Given the description of an element on the screen output the (x, y) to click on. 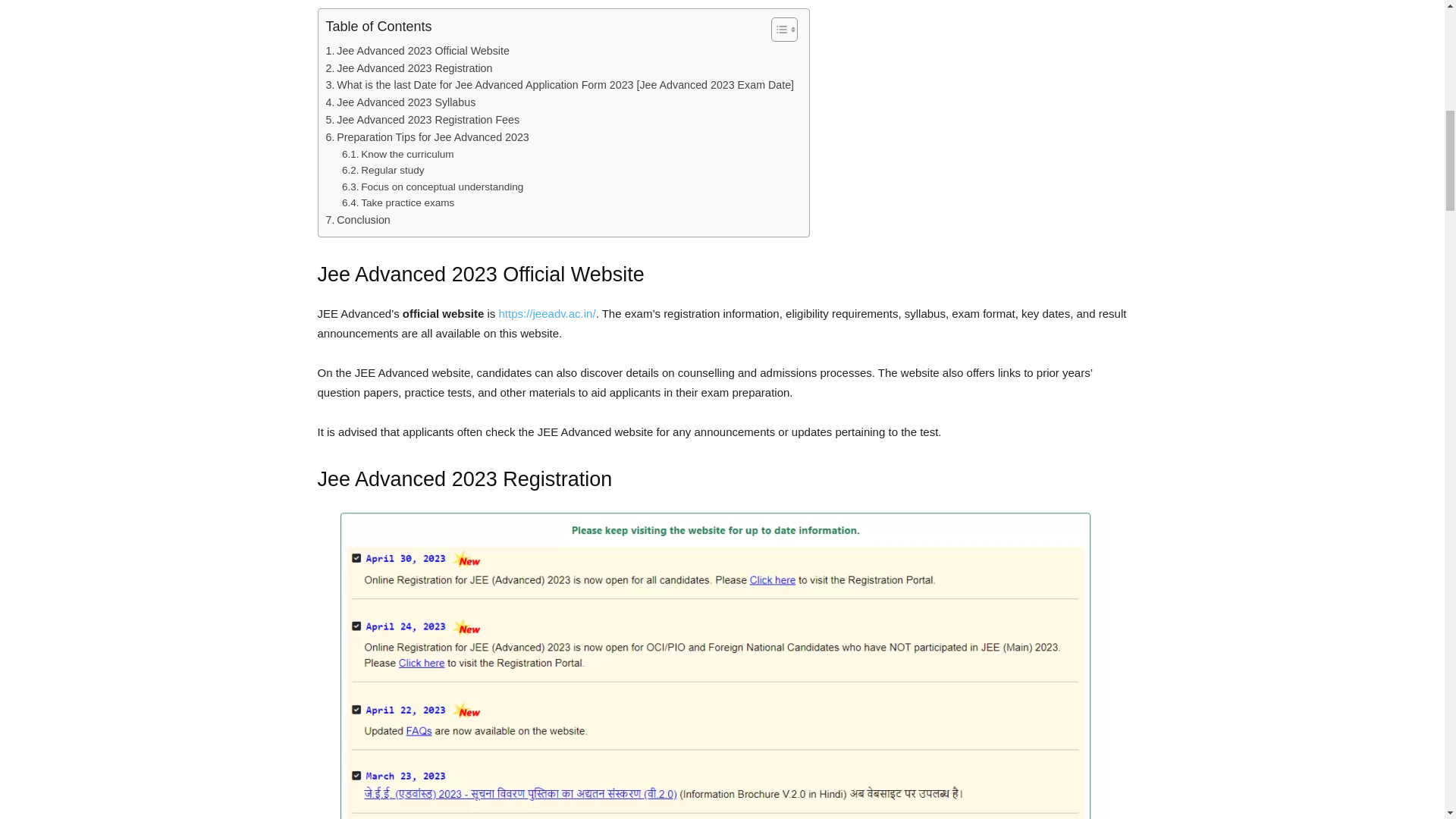
Jee Advanced 2023 Official Website (417, 50)
Jee Advanced 2023 Registration Fees (422, 119)
Jee Advanced 2023 Registration (409, 67)
Preparation Tips for Jee Advanced 2023 (427, 137)
Jee Advanced 2023 Syllabus  (401, 102)
